Given the description of an element on the screen output the (x, y) to click on. 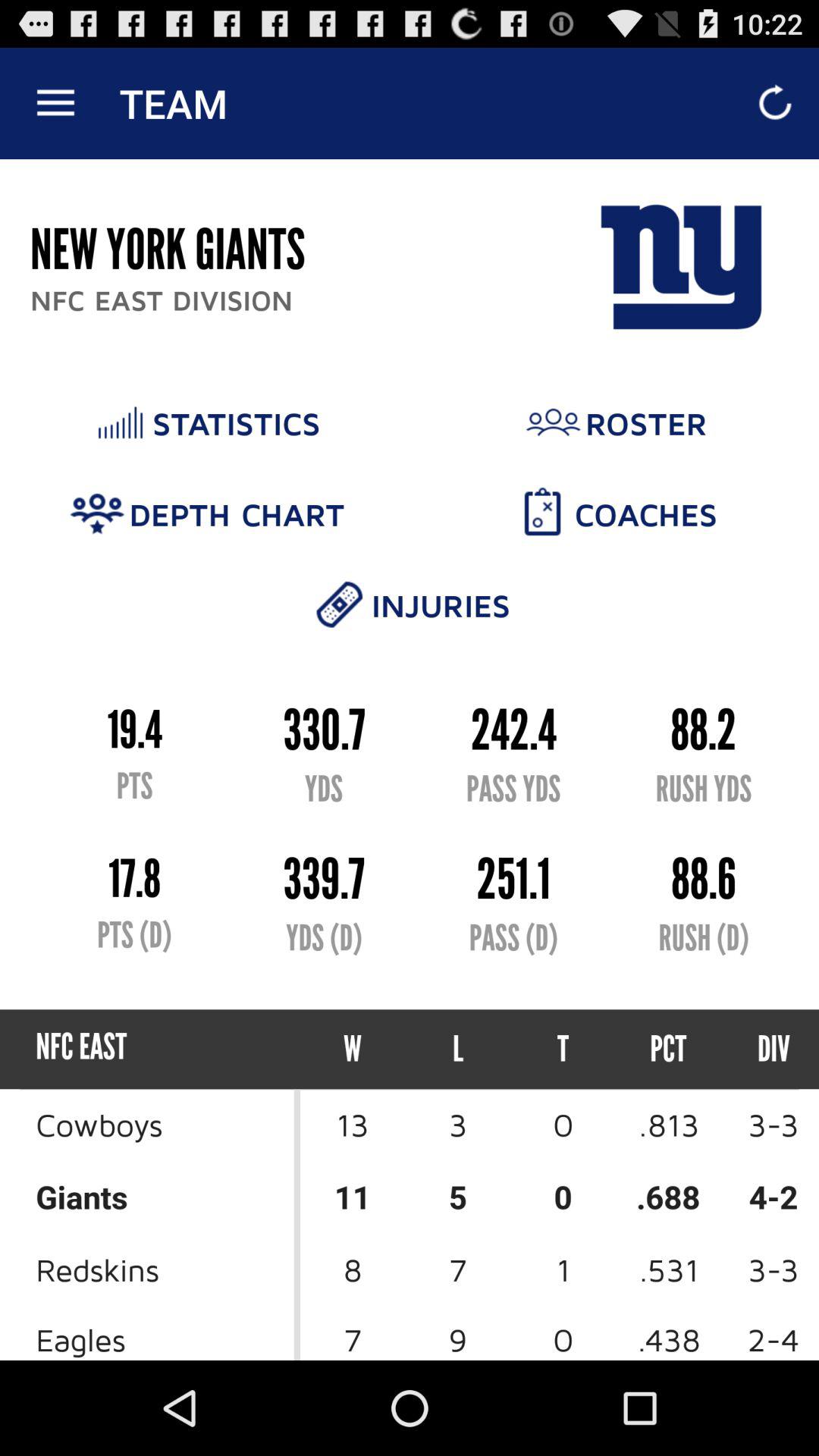
turn on item below pass (d) (562, 1049)
